Given the description of an element on the screen output the (x, y) to click on. 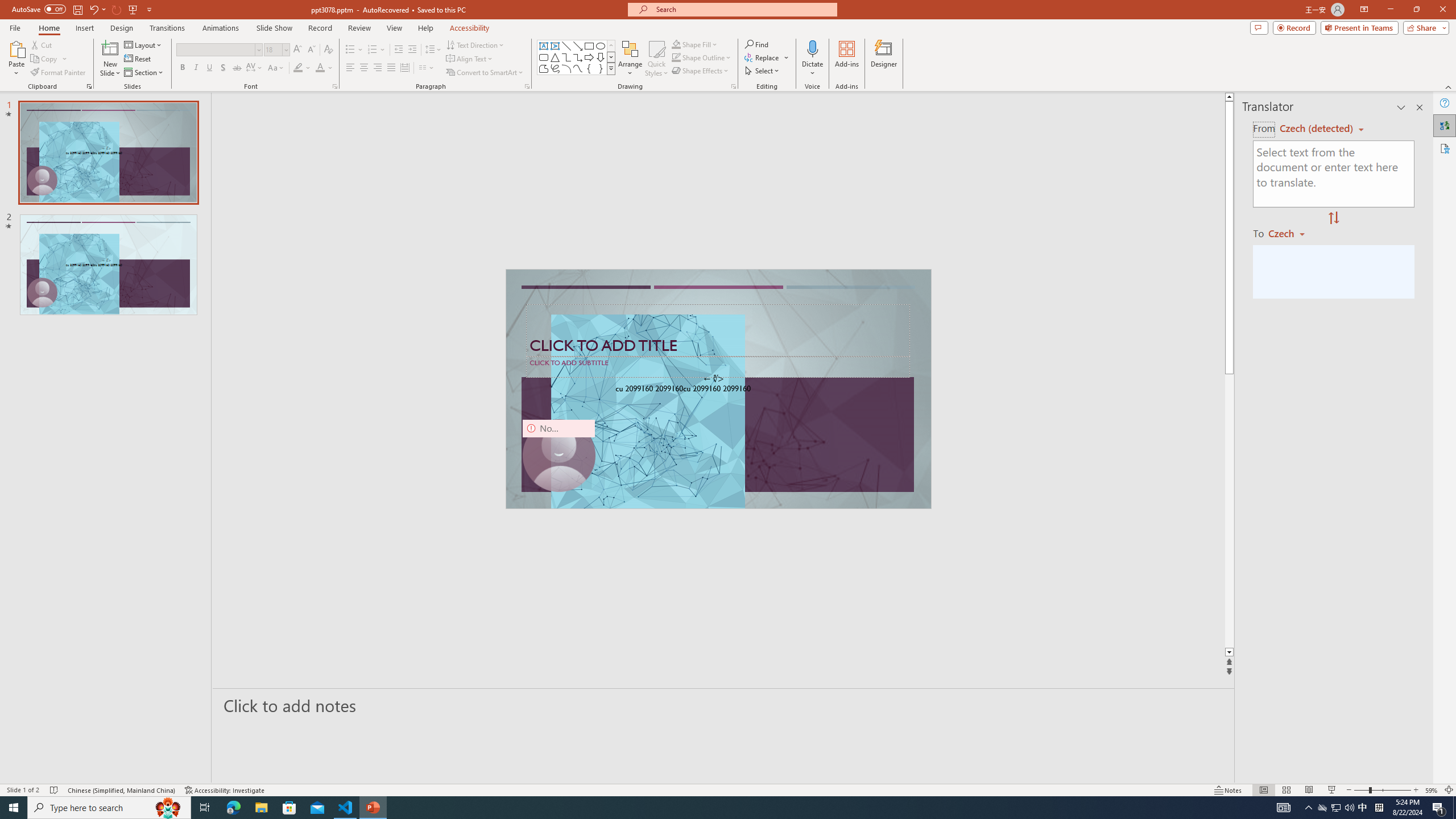
TextBox 61 (717, 389)
Office Clipboard... (88, 85)
Underline (209, 67)
Camera 9, No camera detected. (558, 455)
Title TextBox (717, 330)
